Given the description of an element on the screen output the (x, y) to click on. 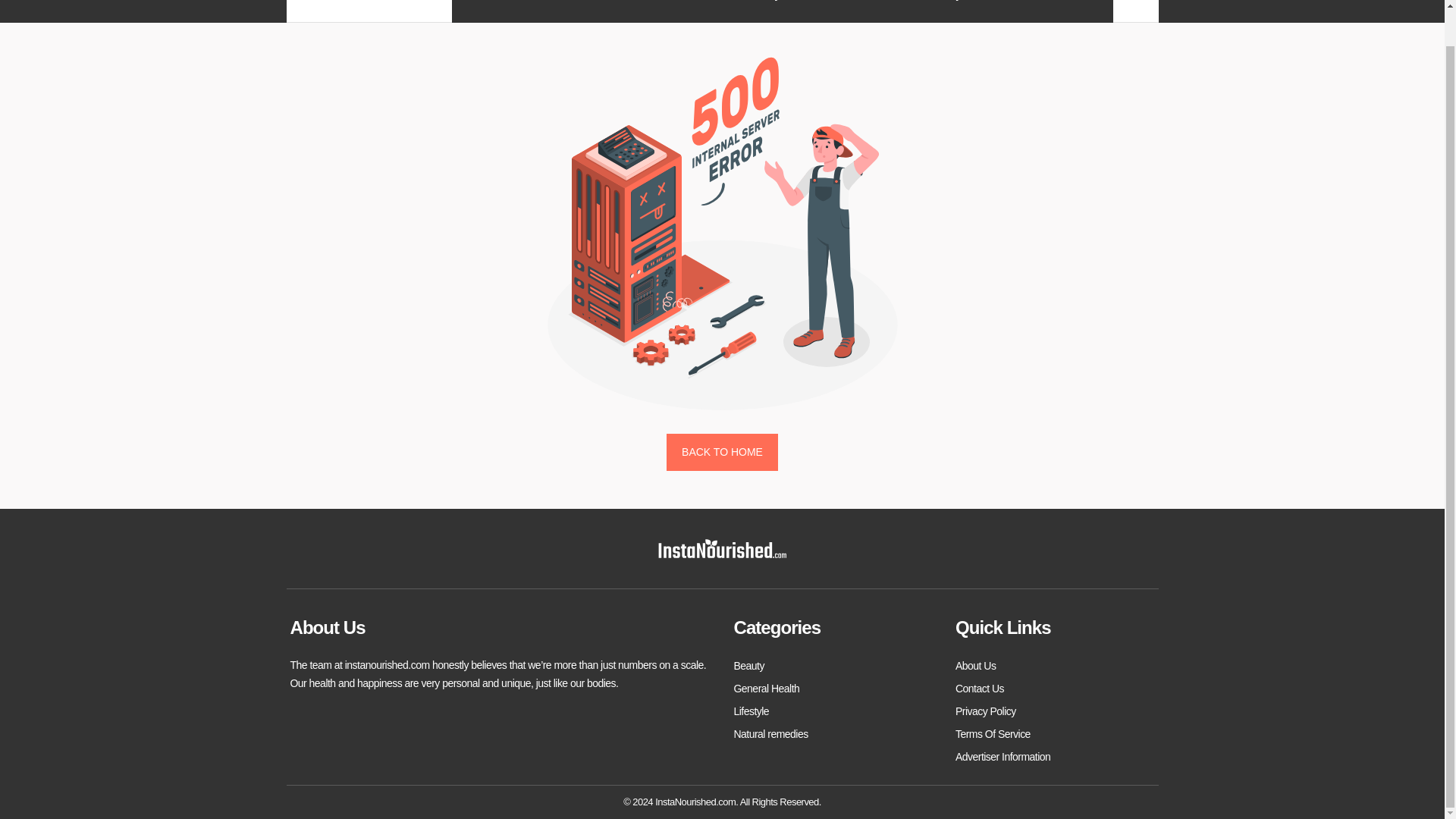
Advertiser Information (1002, 756)
Beauty (748, 665)
General Health (766, 688)
Lifestyle (948, 0)
Privacy Policy (985, 710)
About Us (975, 665)
Contact Us (979, 688)
Lifestyle (751, 710)
Terms Of Service (992, 733)
Natural remedies (770, 733)
BACK TO HOME (721, 452)
